Given the description of an element on the screen output the (x, y) to click on. 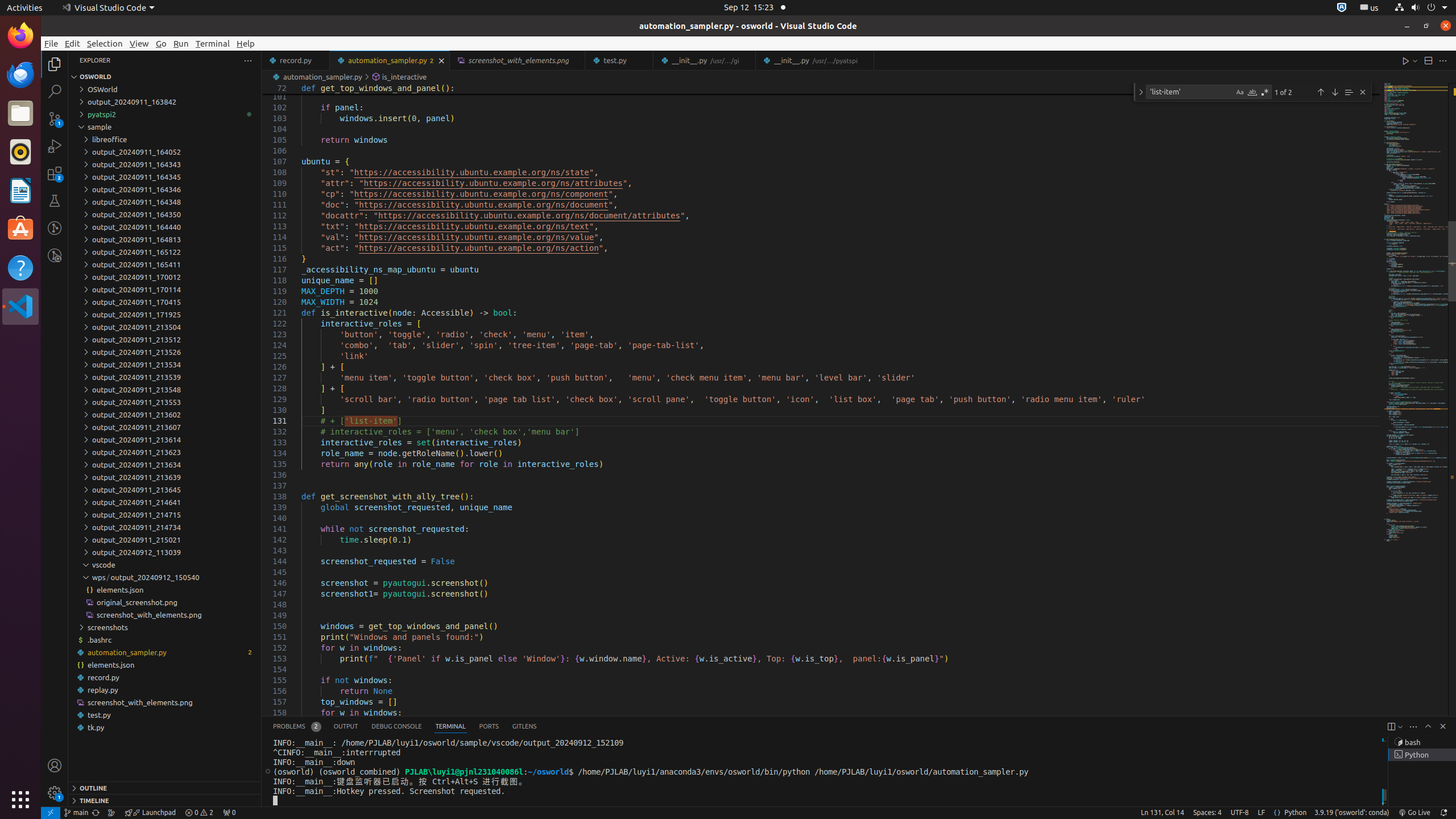
output_20240911_215021 Element type: tree-item (164, 539)
Spaces: 4 Element type: push-button (1206, 812)
Python Element type: push-button (1295, 812)
Run Element type: push-button (181, 43)
